Given the description of an element on the screen output the (x, y) to click on. 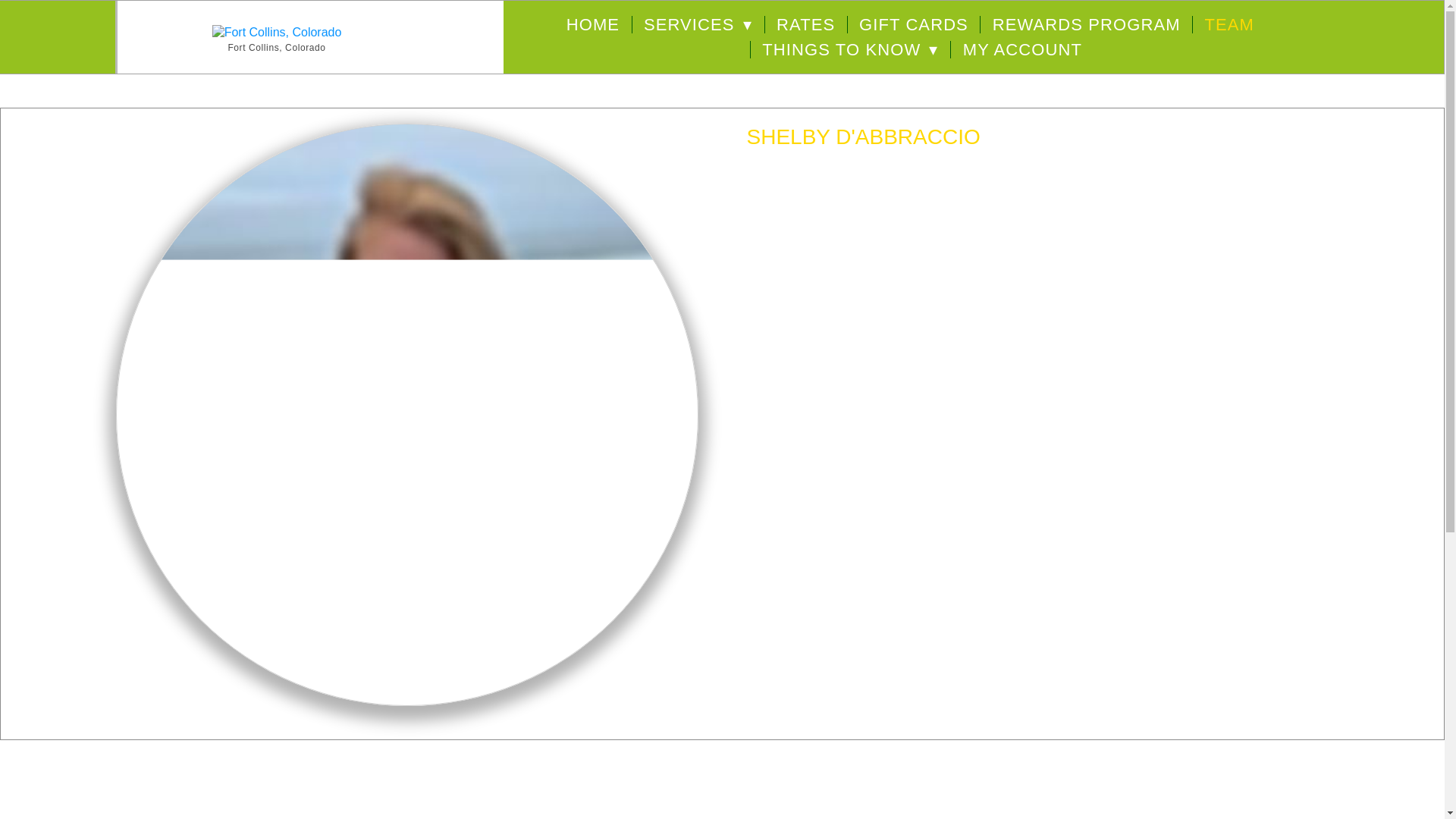
RATES (805, 24)
Fort Collins, Colorado (276, 47)
Fort Collins, Colorado (277, 32)
REWARDS PROGRAM (1086, 24)
GIFT CARDS (913, 24)
HOME (593, 24)
MY ACCOUNT (1021, 49)
TEAM (1228, 24)
